Given the description of an element on the screen output the (x, y) to click on. 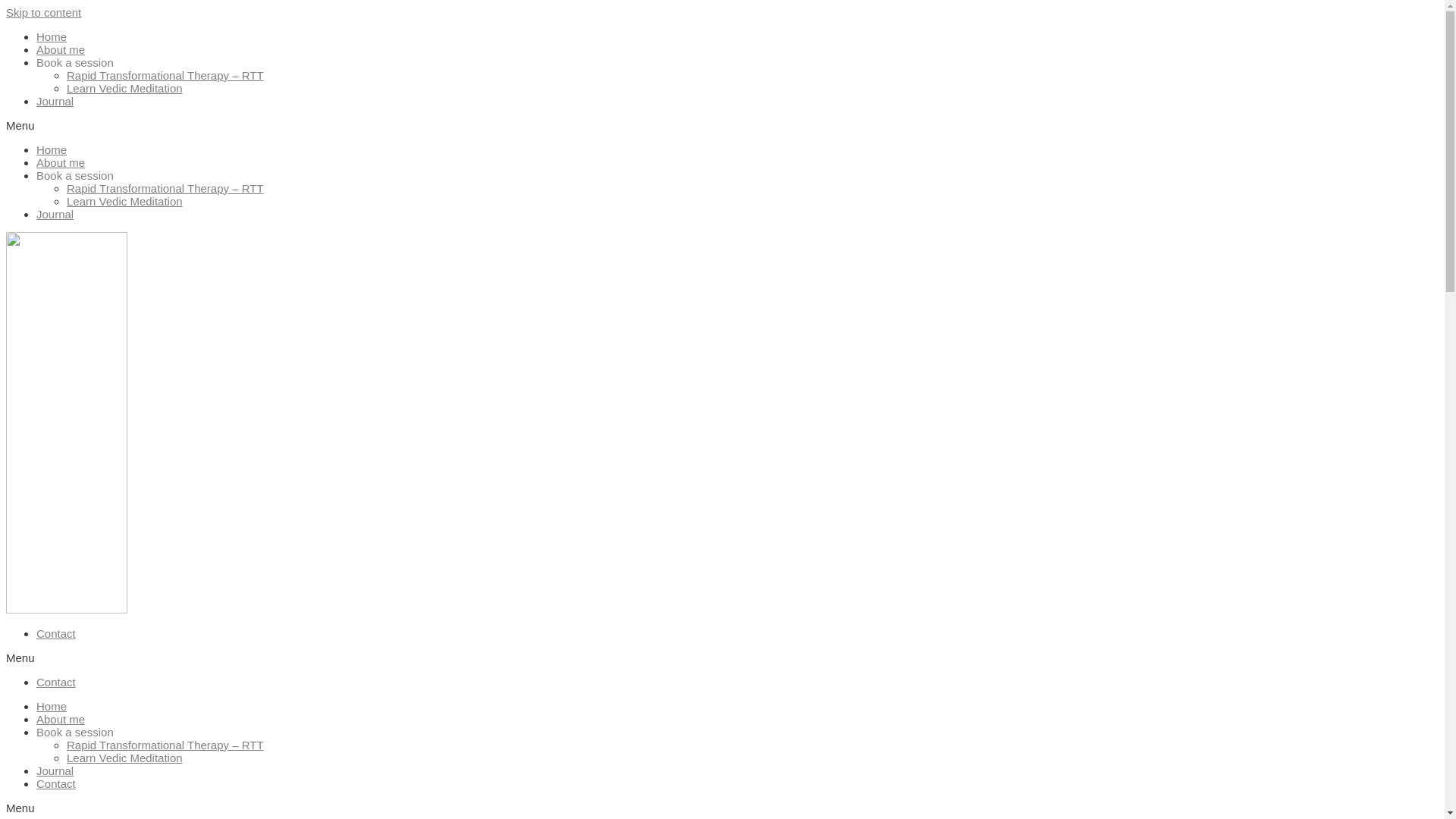
Learn Vedic Meditation Element type: text (124, 87)
Learn Vedic Meditation Element type: text (124, 200)
Book a session Element type: text (74, 62)
Book a session Element type: text (74, 175)
Journal Element type: text (54, 213)
Home Element type: text (51, 705)
Contact Element type: text (55, 633)
Journal Element type: text (54, 100)
About me Element type: text (60, 162)
Learn Vedic Meditation Element type: text (124, 757)
Book a session Element type: text (74, 731)
Journal Element type: text (54, 770)
Skip to content Element type: text (43, 12)
About me Element type: text (60, 718)
About me Element type: text (60, 49)
Contact Element type: text (55, 681)
Home Element type: text (51, 36)
Contact Element type: text (55, 783)
Home Element type: text (51, 149)
